Given the description of an element on the screen output the (x, y) to click on. 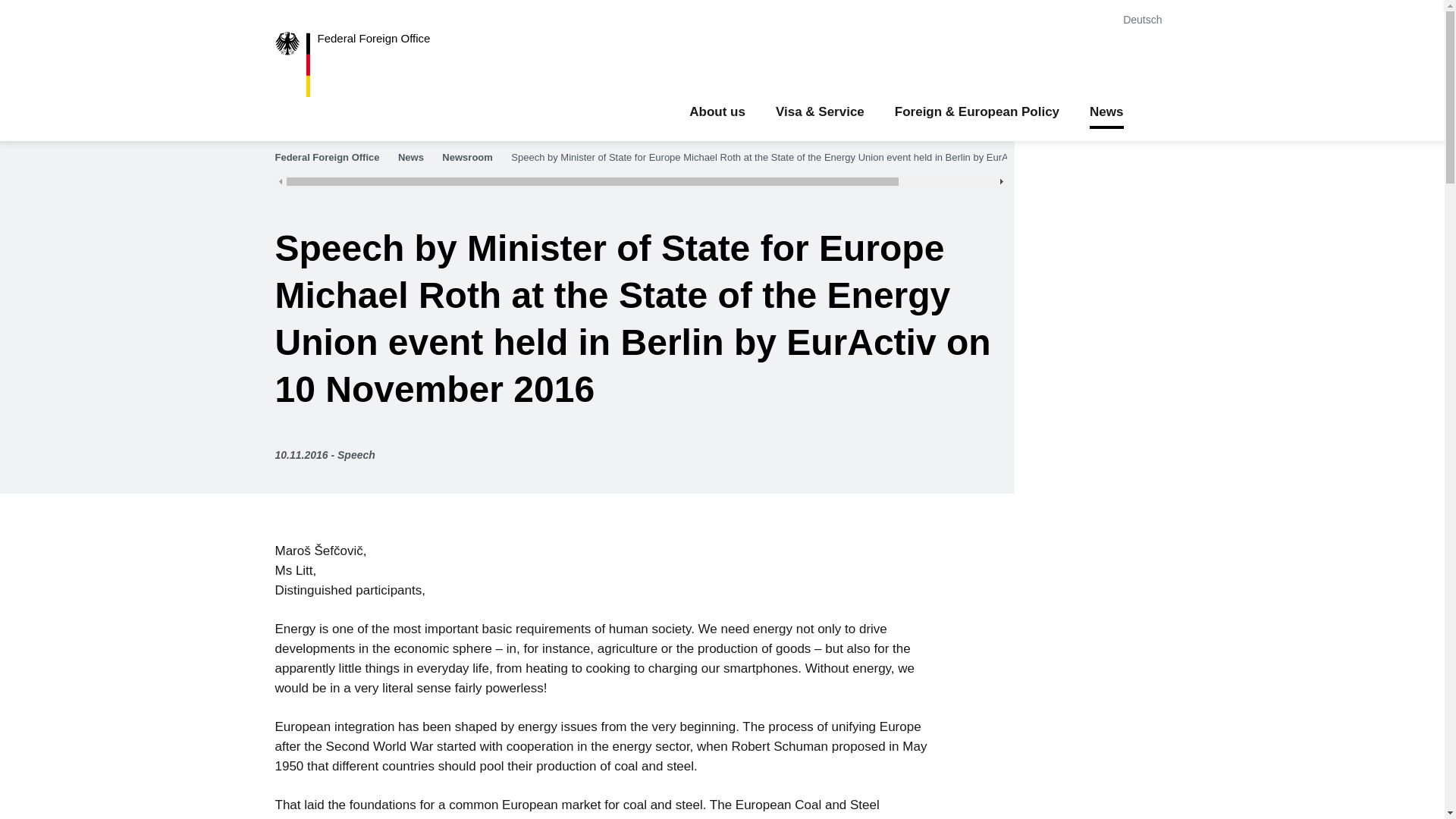
Federal Foreign Office (334, 157)
Deutsch (1145, 19)
Newsroom (474, 157)
News (418, 157)
Federal Foreign Office (363, 64)
About us (716, 111)
Deutsch (1145, 19)
Federal Foreign Office (363, 64)
